Given the description of an element on the screen output the (x, y) to click on. 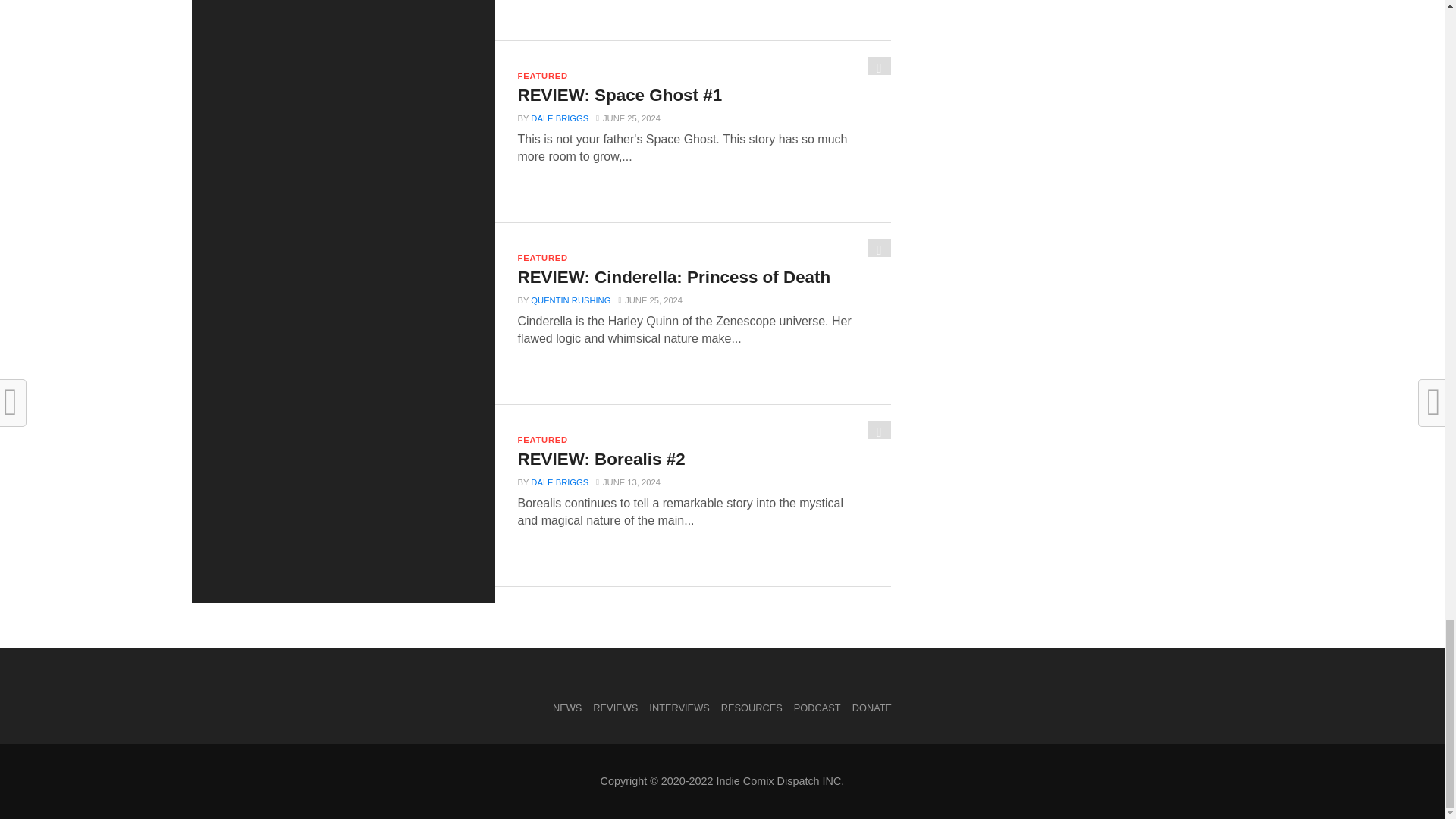
Posts by Dale Briggs (559, 117)
